Given the description of an element on the screen output the (x, y) to click on. 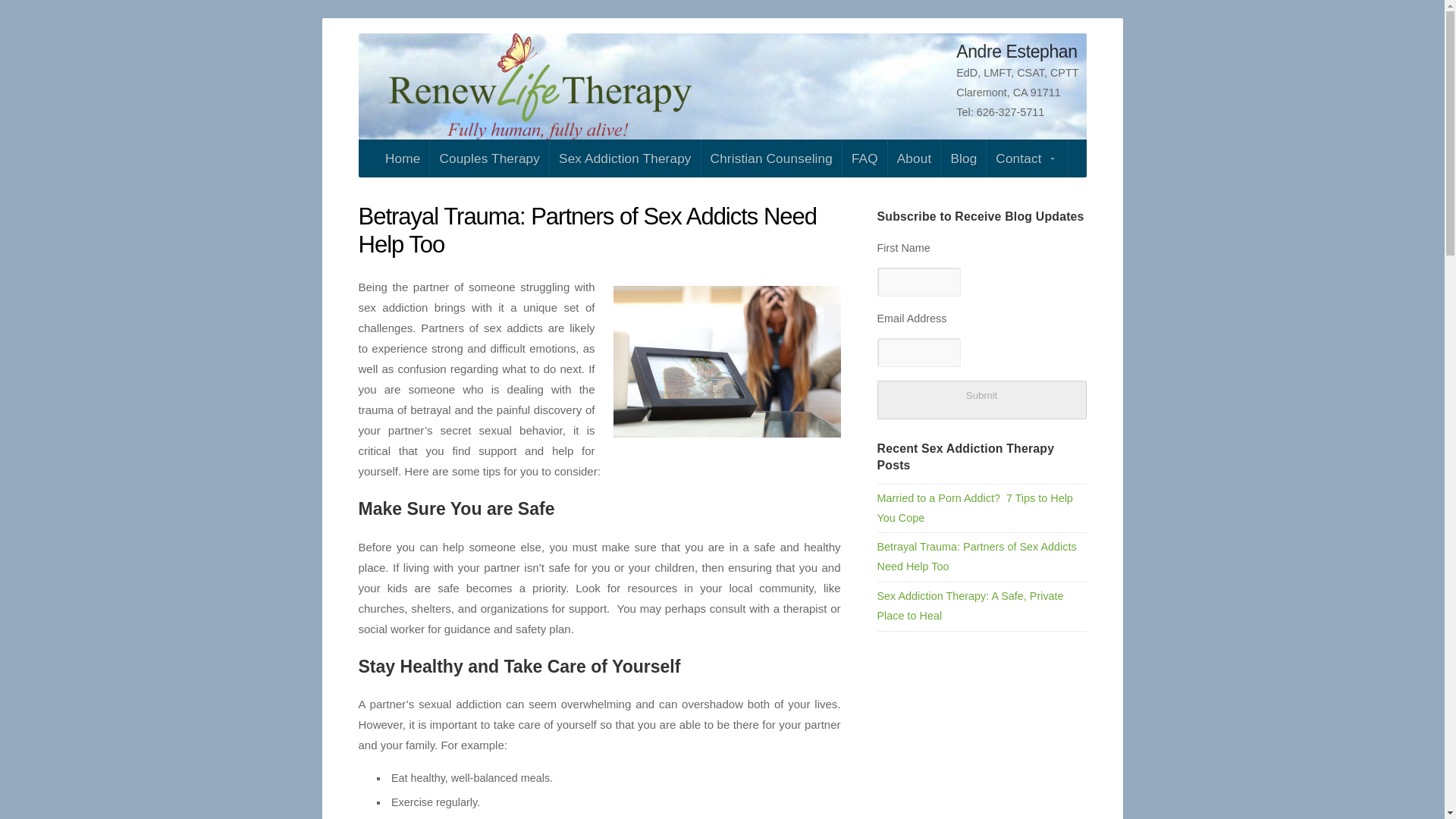
Betrayal Trauma: Partners of Sex Addicts Need Help Too (975, 556)
Christian Counseling (771, 158)
Blog (962, 158)
Renew Life Therapy (540, 86)
Submit (981, 399)
About (914, 158)
Couples Therapy (488, 158)
Sex Addiction Therapy: A Safe, Private Place to Heal (969, 605)
FAQ (864, 158)
Sex Addiction Therapy (625, 158)
Home (402, 158)
Married to a Porn Addict?  7 Tips to Help You Cope (973, 508)
Contact (1027, 158)
